Given the description of an element on the screen output the (x, y) to click on. 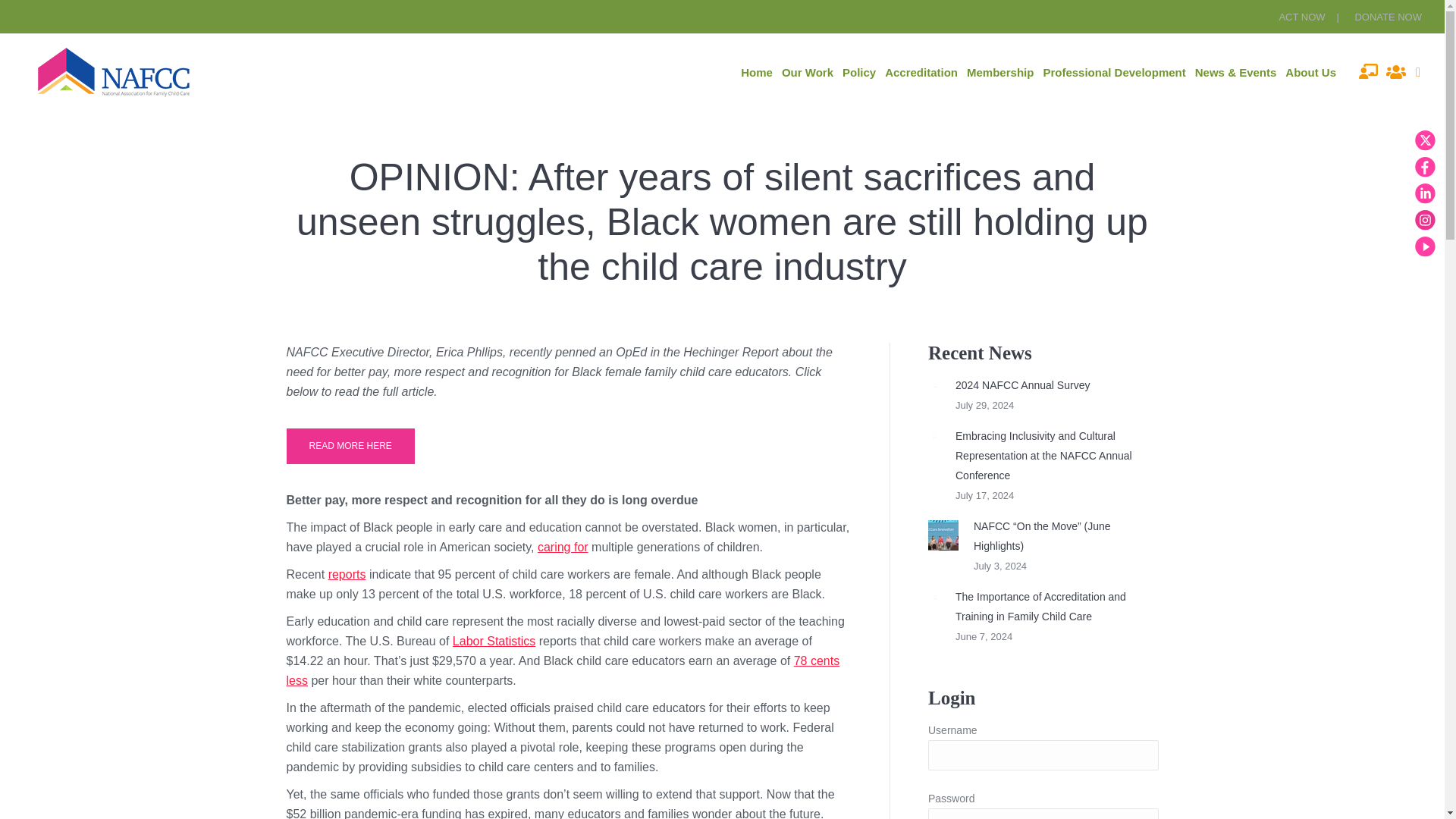
DONATE NOW (1388, 17)
Membership (999, 72)
Accreditation (921, 72)
Home (757, 72)
Policy (859, 72)
Professional Development (1113, 72)
Our Work (806, 72)
ACT NOW (1308, 17)
